Given the description of an element on the screen output the (x, y) to click on. 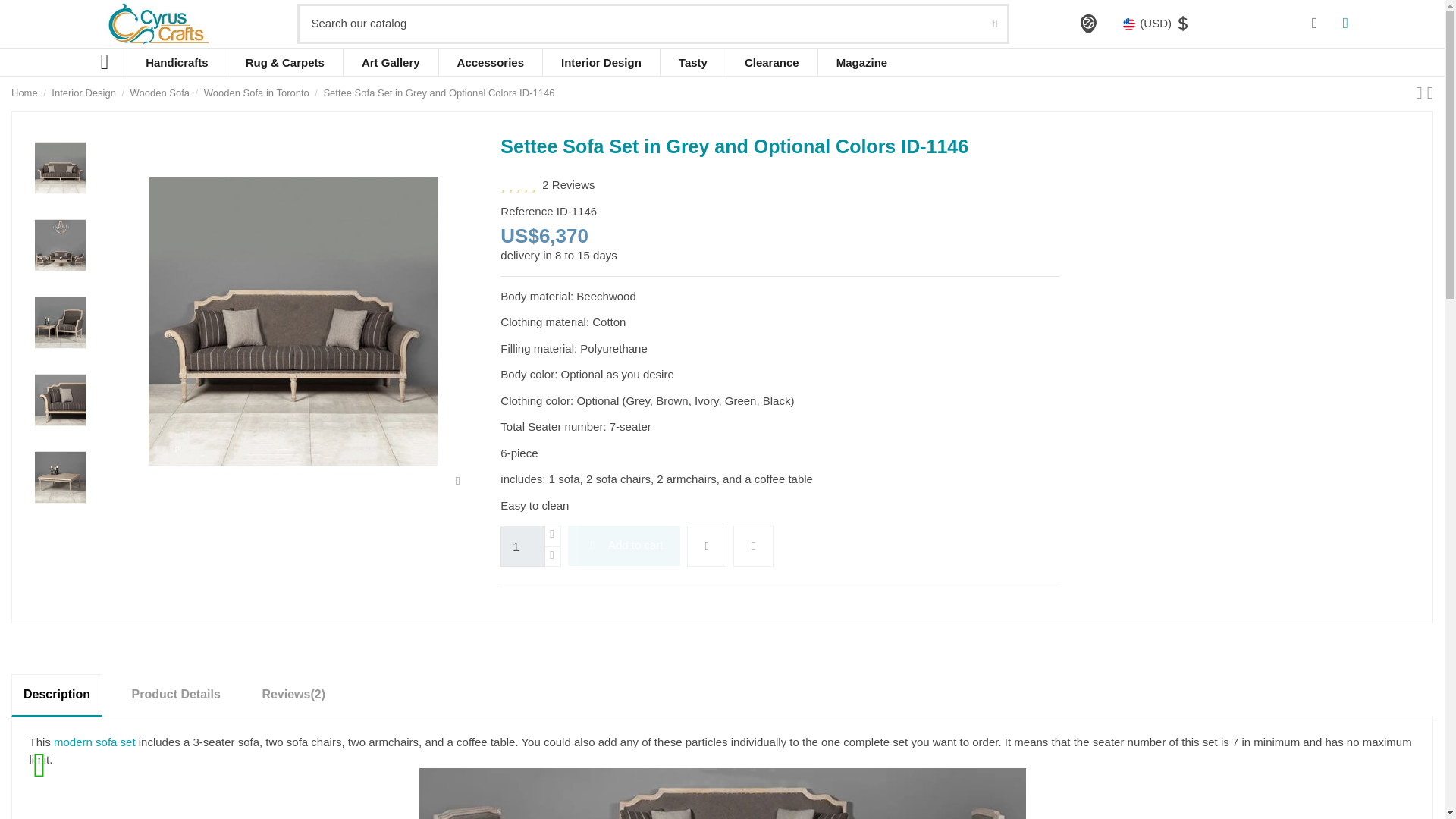
Log in to your customer account (1314, 24)
1 (522, 546)
Handicrafts (176, 62)
